Given the description of an element on the screen output the (x, y) to click on. 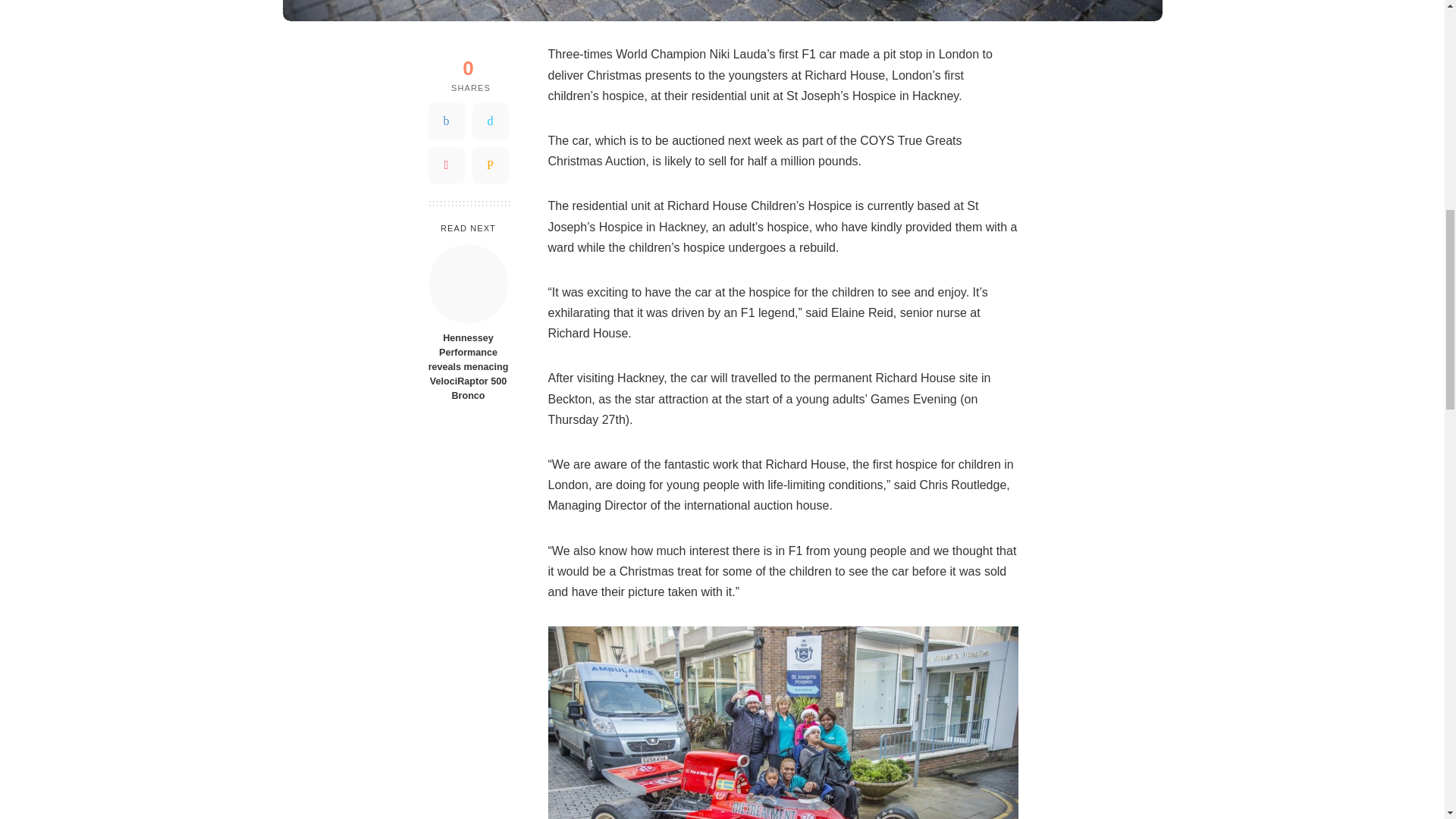
Facebook (446, 108)
Twitter (489, 108)
Pinterest (446, 153)
Email (489, 153)
